Given the description of an element on the screen output the (x, y) to click on. 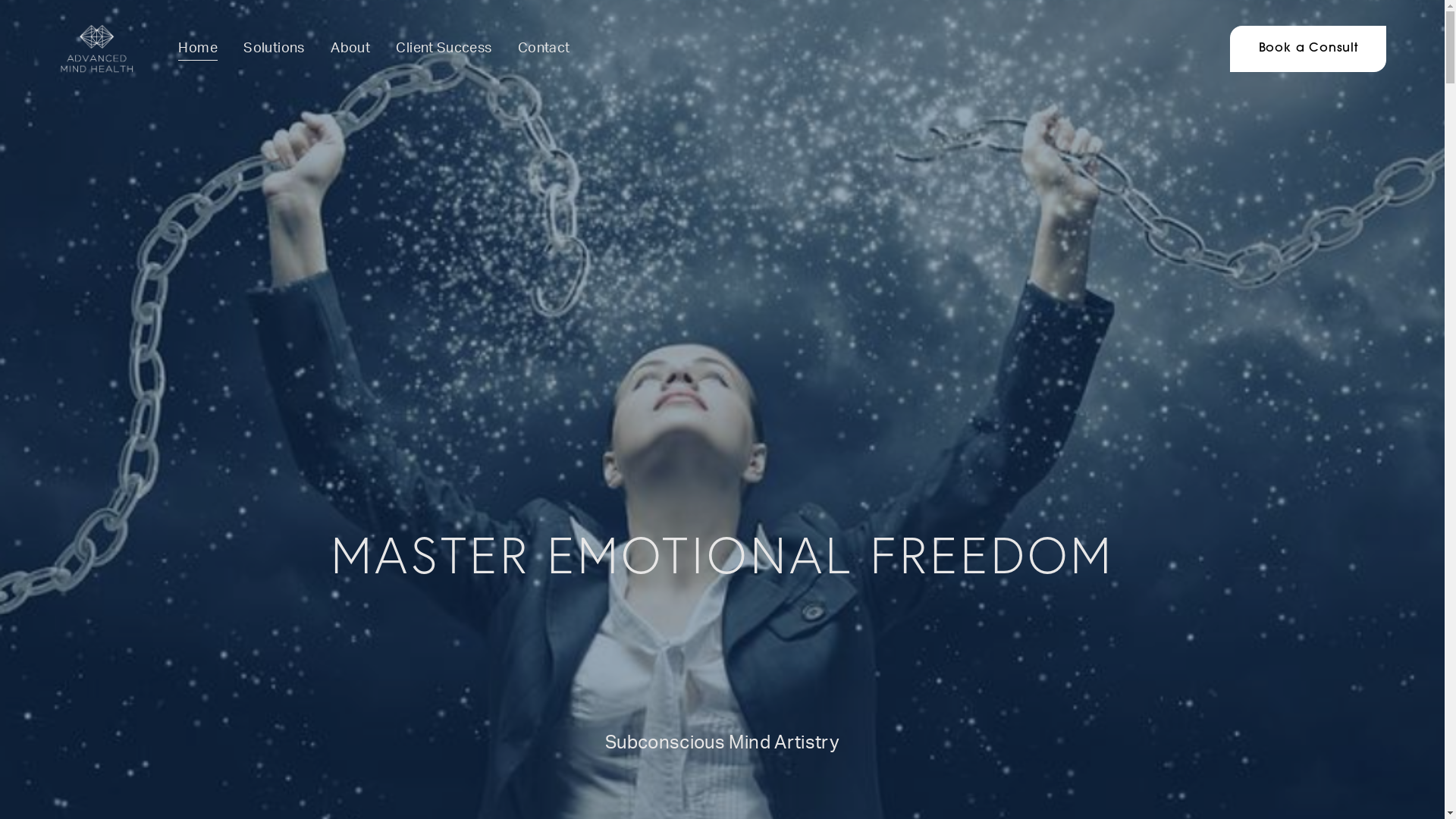
Book a Consult Element type: text (1308, 48)
Solutions Element type: text (273, 48)
About Element type: text (350, 48)
Home Element type: text (197, 48)
Client Success Element type: text (443, 48)
Contact Element type: text (543, 48)
